Given the description of an element on the screen output the (x, y) to click on. 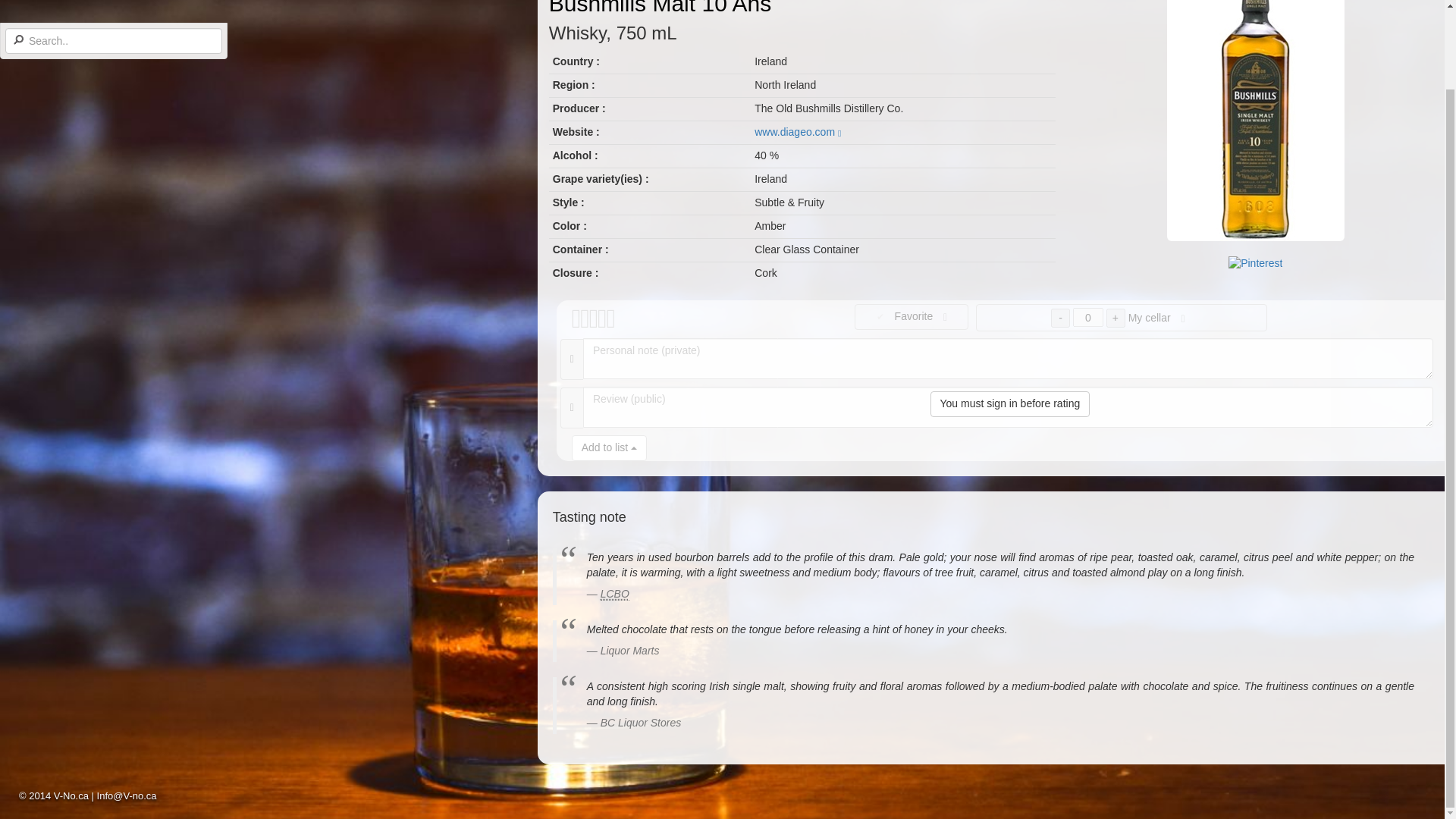
0 (1088, 316)
You must sign in before rating (1010, 403)
regular (592, 319)
good (600, 319)
Liquor Control Board of Ontario (613, 594)
- (1060, 317)
gorgeous (609, 319)
bad (575, 319)
www.diageo.com (797, 132)
Favorite (911, 316)
Add to list (609, 447)
poor (582, 319)
